Given the description of an element on the screen output the (x, y) to click on. 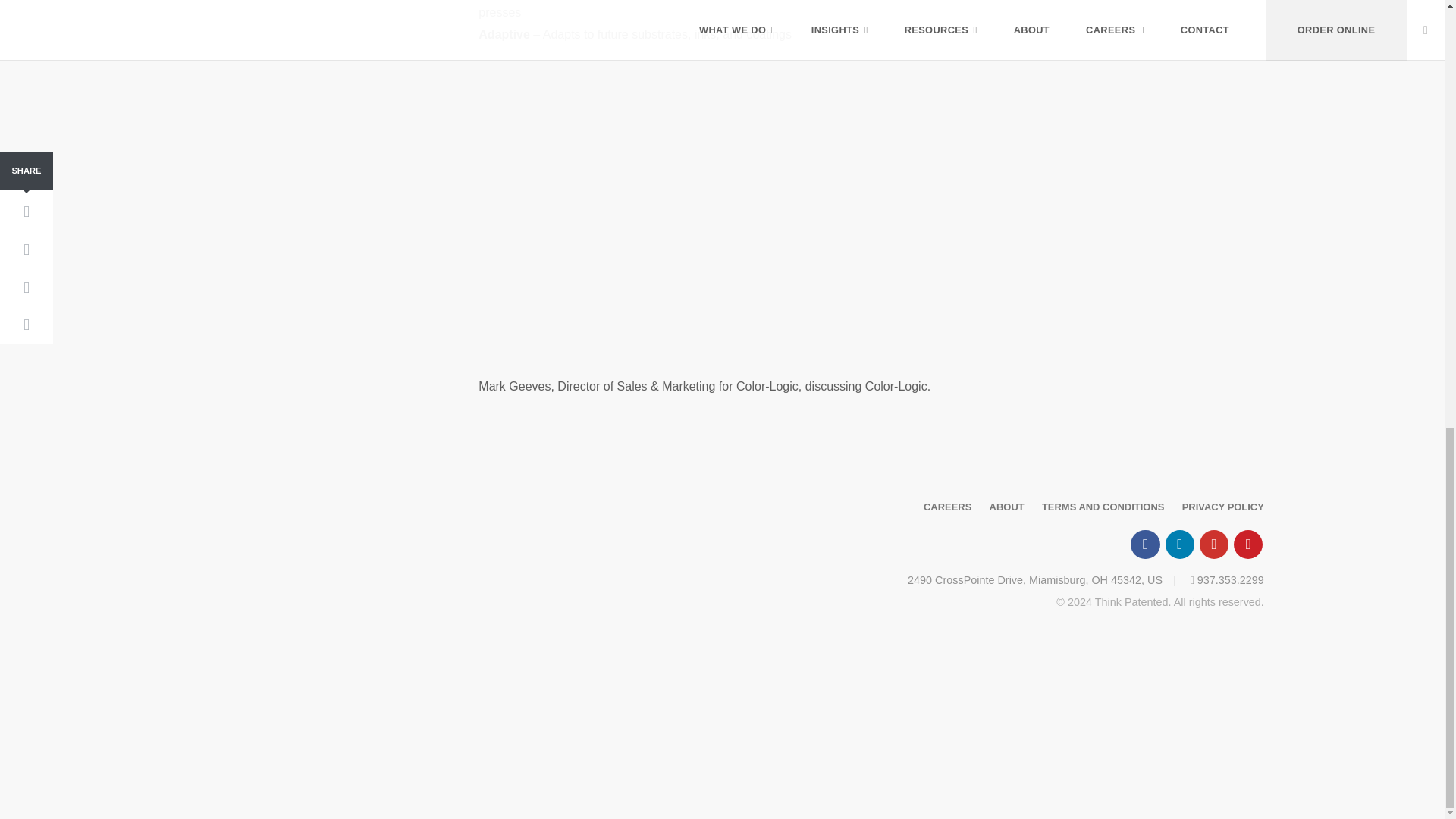
ABOUT (1007, 506)
TERMS AND CONDITIONS (1102, 506)
CAREERS (947, 506)
PRIVACY POLICY (1222, 506)
